Given the description of an element on the screen output the (x, y) to click on. 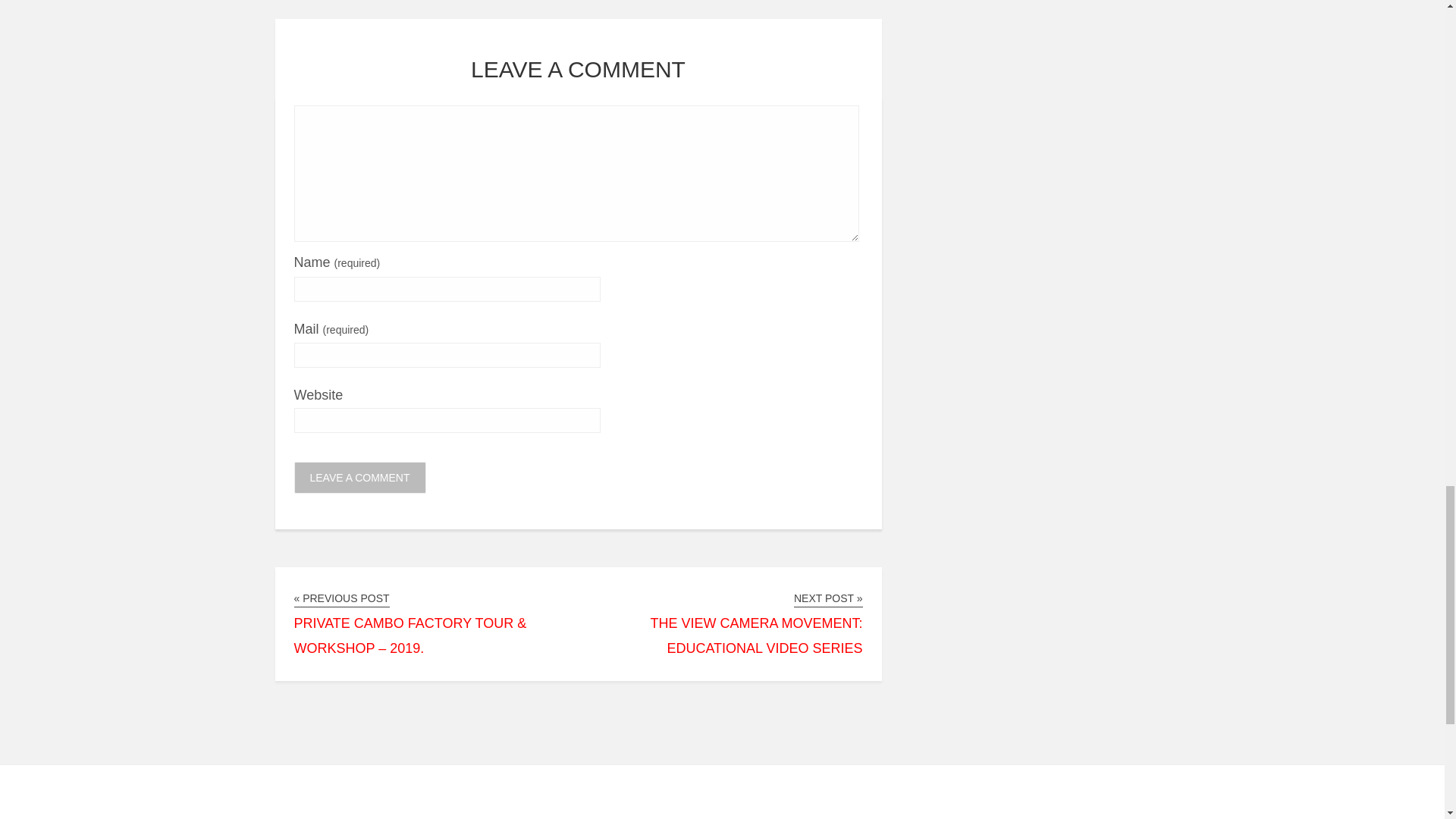
Leave a Comment (360, 477)
